Given the description of an element on the screen output the (x, y) to click on. 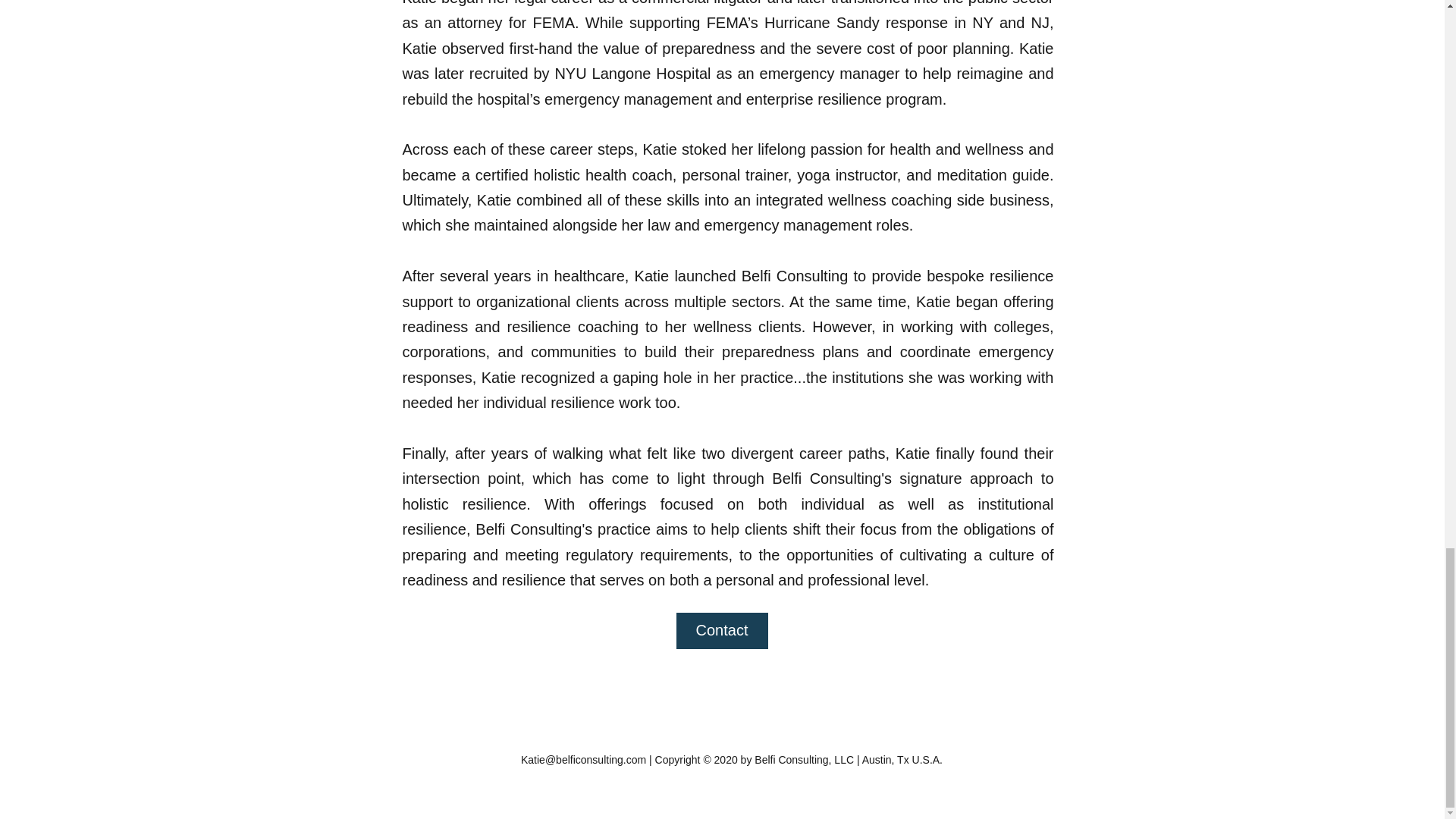
Contact (722, 630)
